Given the description of an element on the screen output the (x, y) to click on. 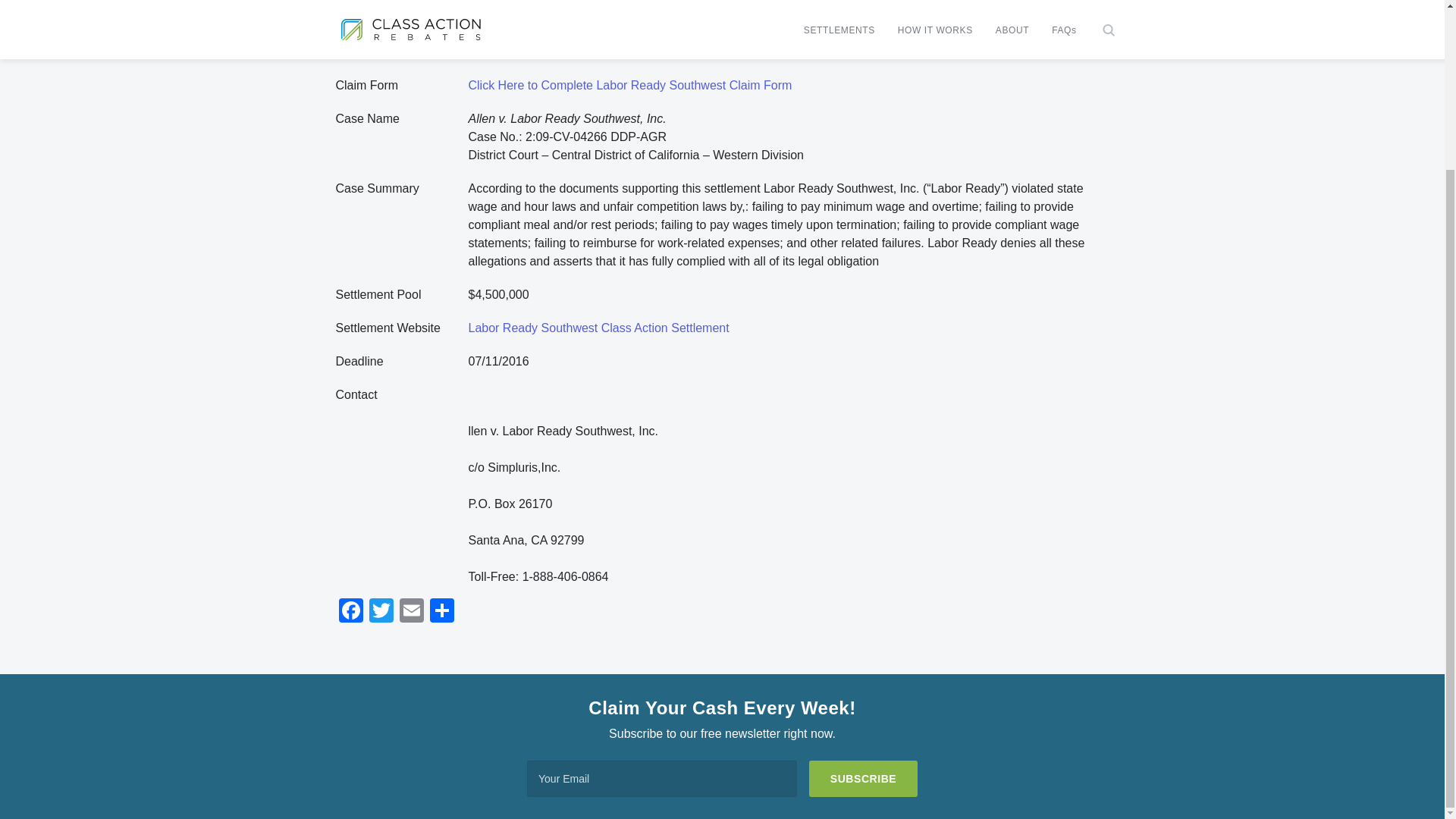
Email (411, 612)
Twitter (380, 612)
Facebook (349, 612)
SUBSCRIBE (863, 778)
Twitter (380, 612)
Click Here to Complete Labor Ready Southwest Claim Form (630, 84)
Labor Ready Southwest Class Action Settlement (598, 327)
Email (411, 612)
Facebook (349, 612)
